Given the description of an element on the screen output the (x, y) to click on. 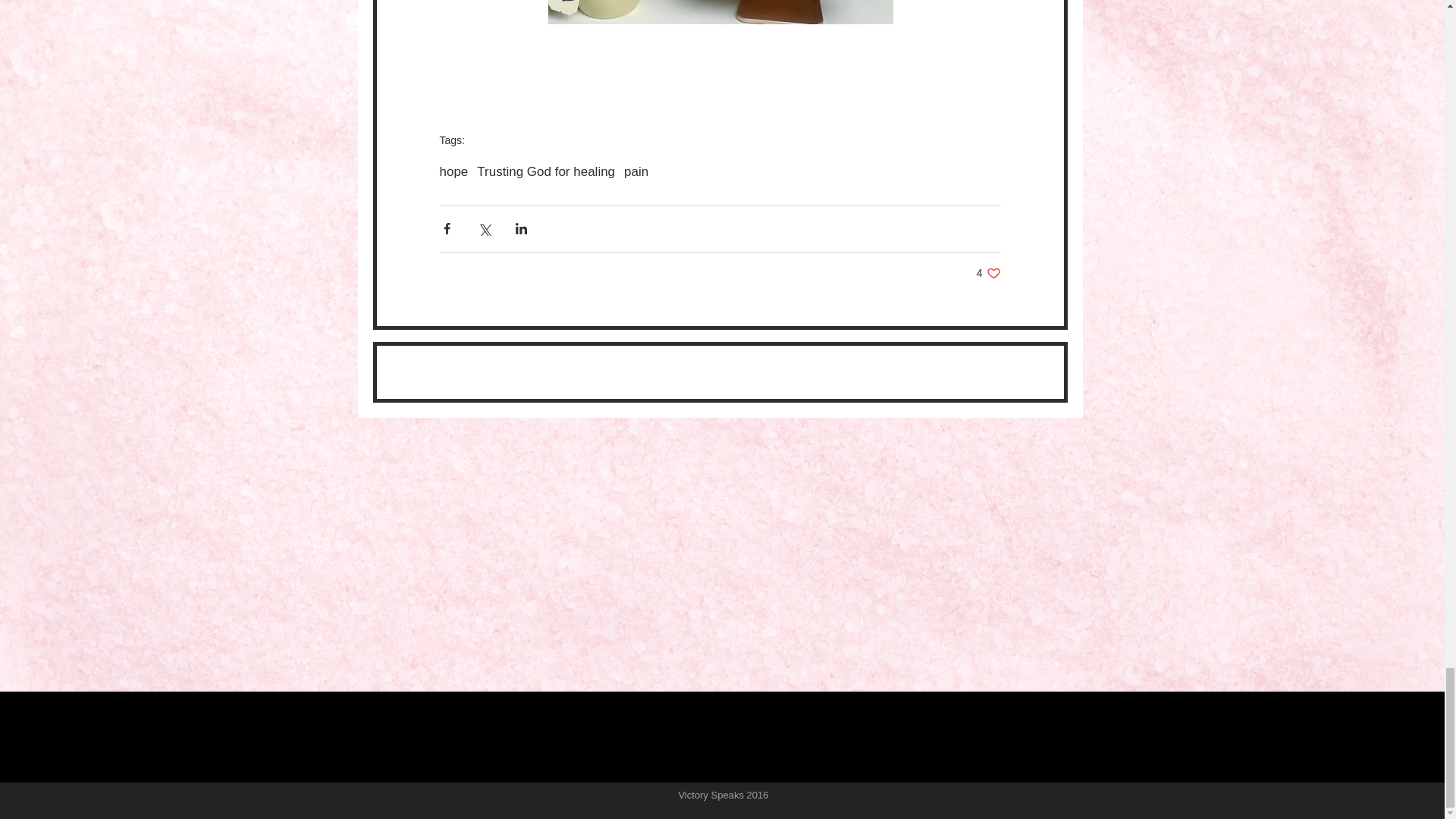
Trusting God for healing (545, 171)
pain (988, 273)
hope (635, 171)
Facebook Like (453, 171)
